Given the description of an element on the screen output the (x, y) to click on. 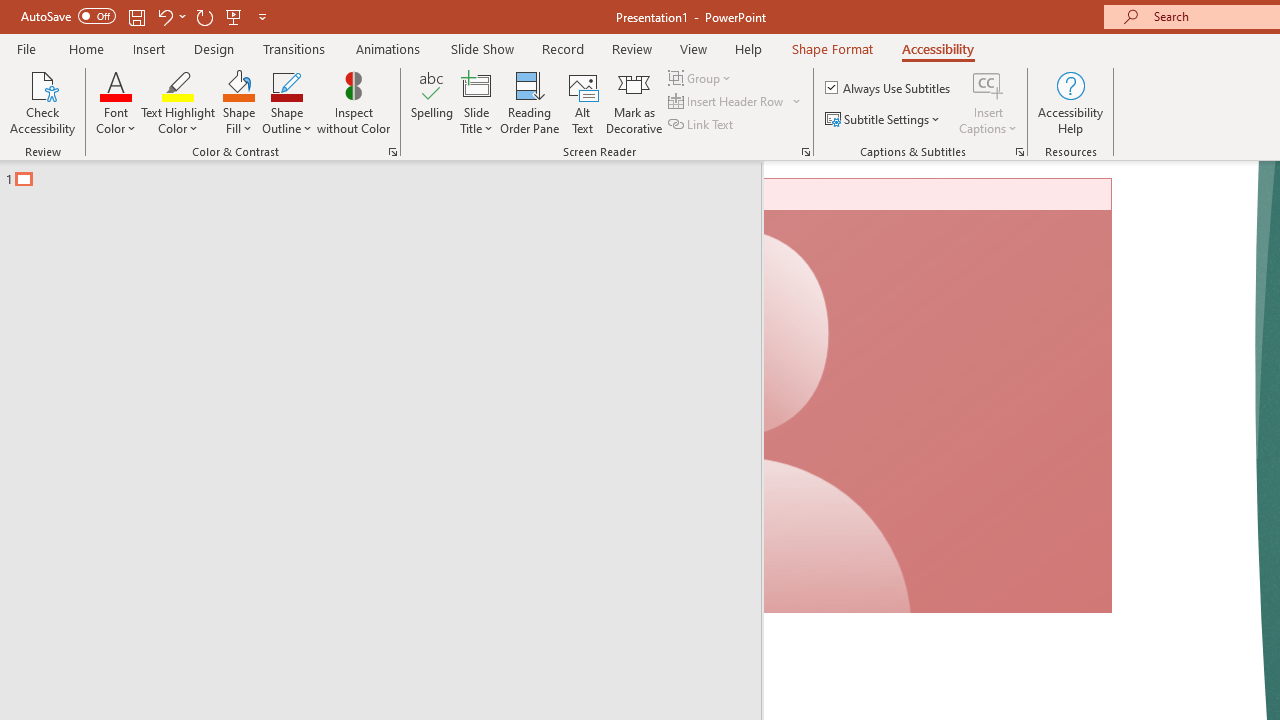
Shape Fill Orange, Accent 2 (238, 84)
Reading Order Pane (529, 102)
Spelling... (432, 102)
Outline (389, 174)
Shape Format (832, 48)
Text Highlight Color Yellow (178, 84)
Color & Contrast (392, 151)
Subtitle Settings (884, 119)
Always Use Subtitles (889, 87)
